Given the description of an element on the screen output the (x, y) to click on. 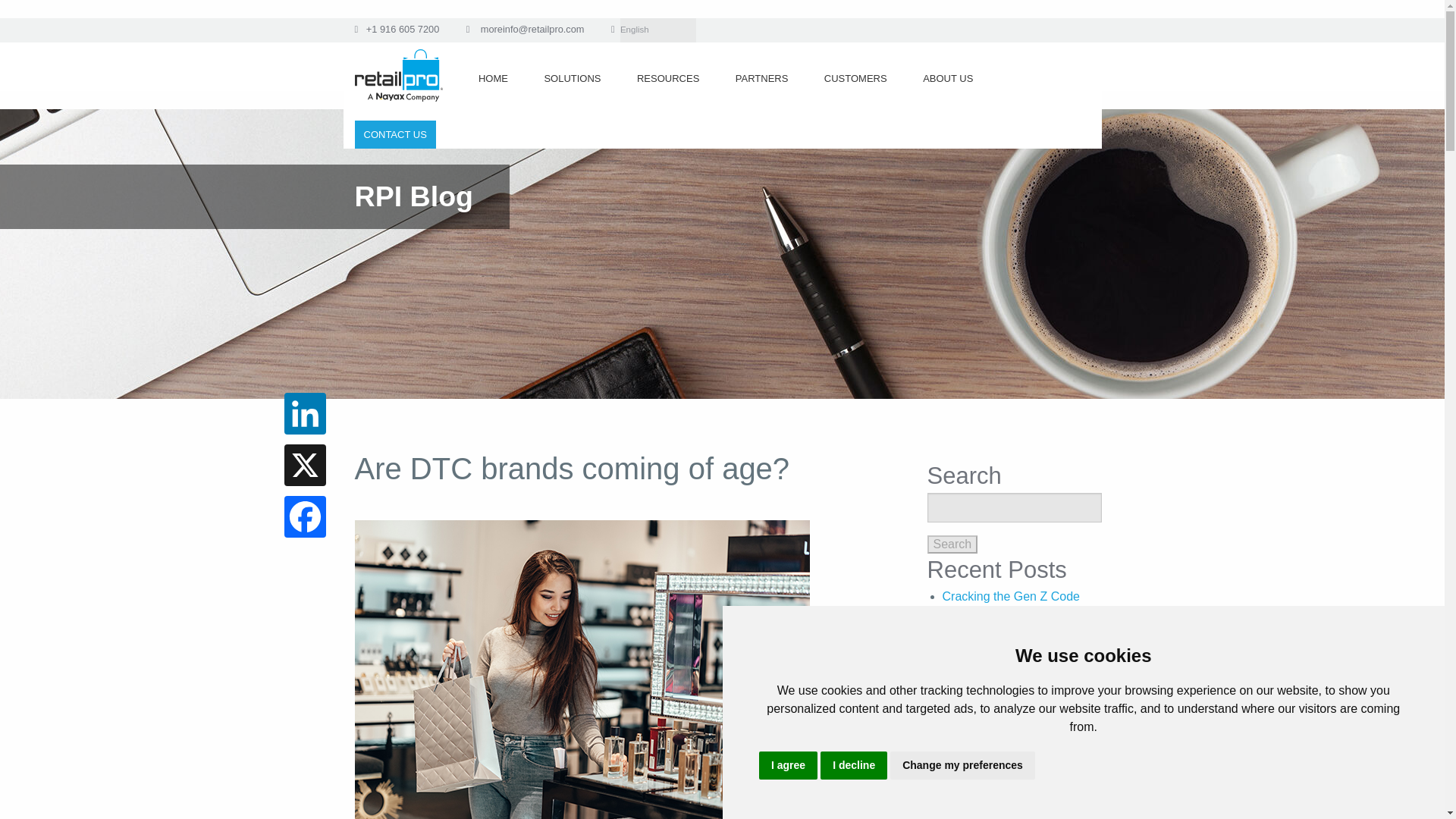
HOME (498, 74)
Search (951, 544)
I decline (853, 765)
CUSTOMERS (860, 74)
PARTNERS (766, 74)
Change my preferences (962, 765)
SOLUTIONS (576, 74)
RESOURCES (673, 74)
I agree (787, 765)
